Given the description of an element on the screen output the (x, y) to click on. 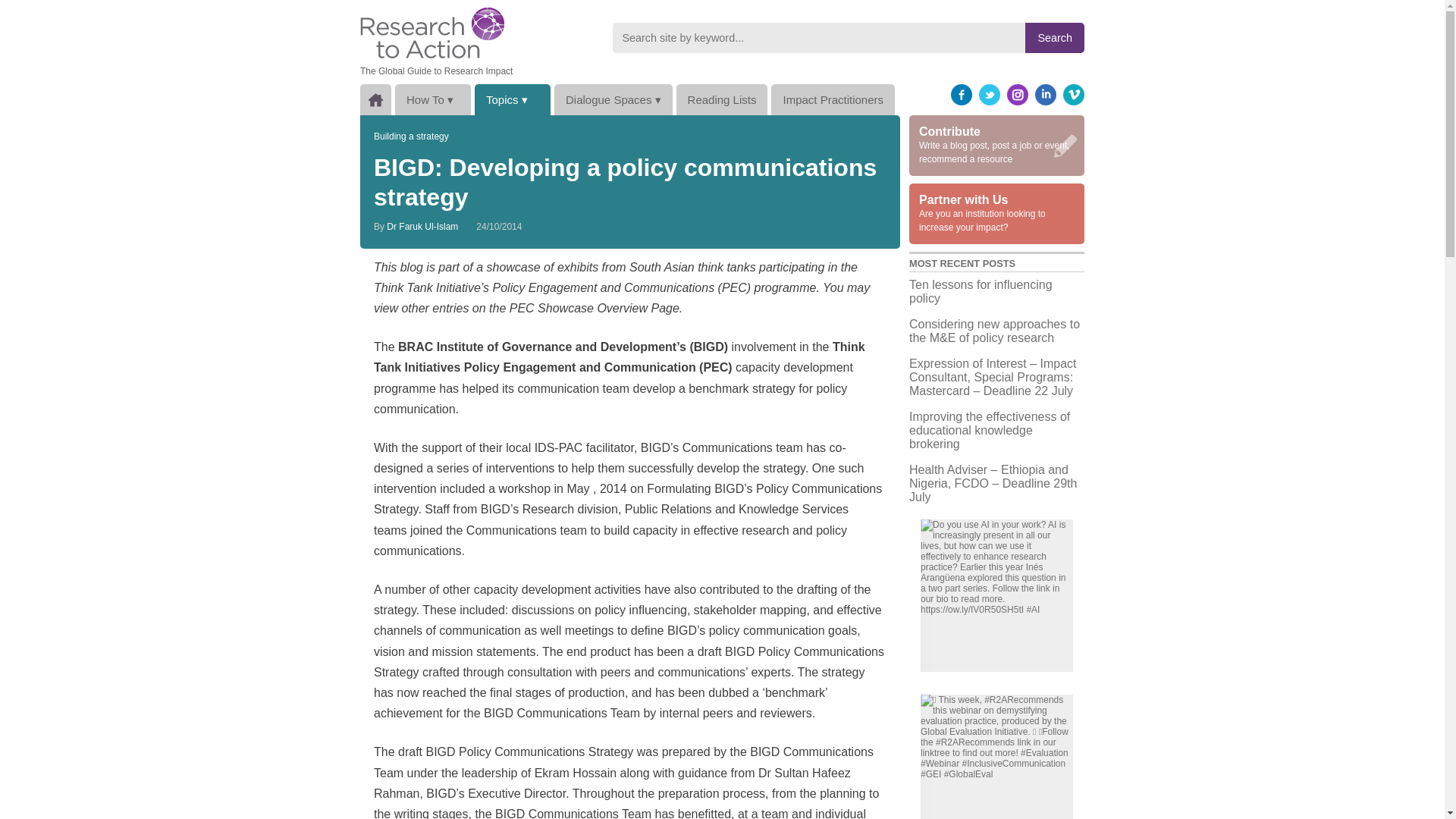
Research to Action (431, 32)
Posts by Dr Faruk Ul-Islam (422, 226)
Return to homepage (431, 32)
Home (375, 99)
